Given the description of an element on the screen output the (x, y) to click on. 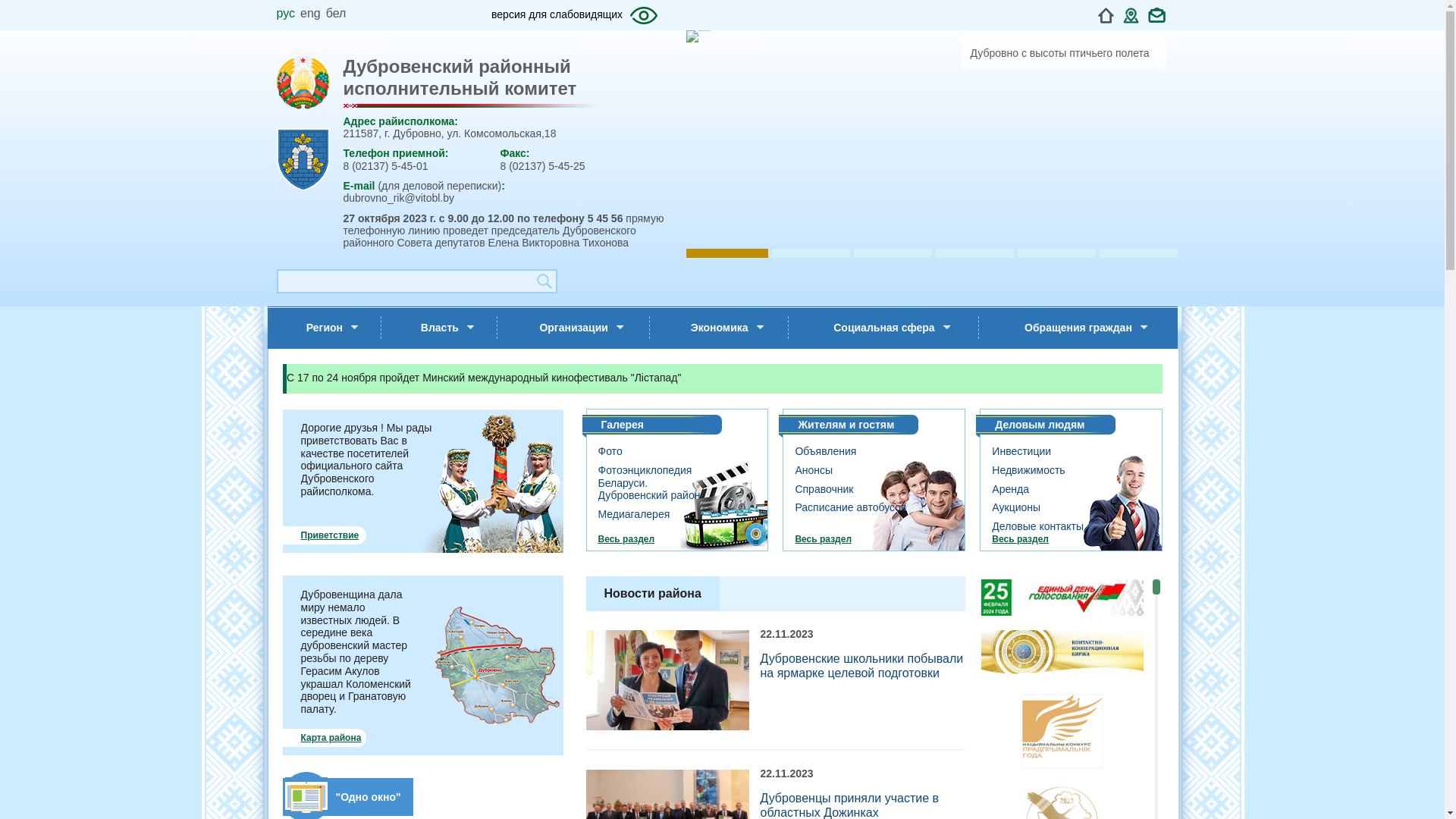
eng Element type: text (310, 12)
dubrovno_rik@vitobl.by Element type: text (398, 197)
